Given the description of an element on the screen output the (x, y) to click on. 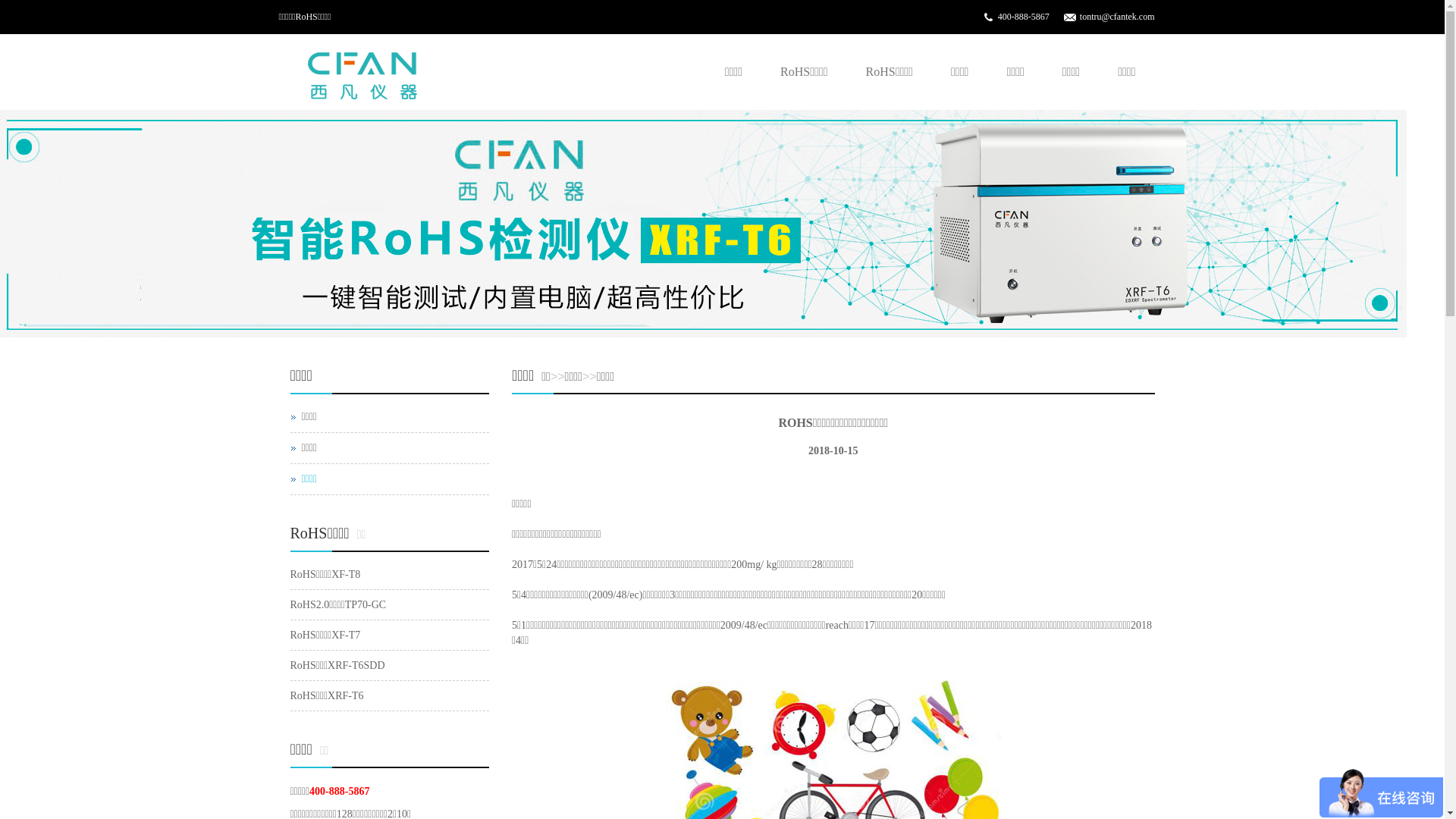
400-888-5867 Element type: text (1023, 16)
tontru@cfantek.com Element type: text (1116, 16)
